Given the description of an element on the screen output the (x, y) to click on. 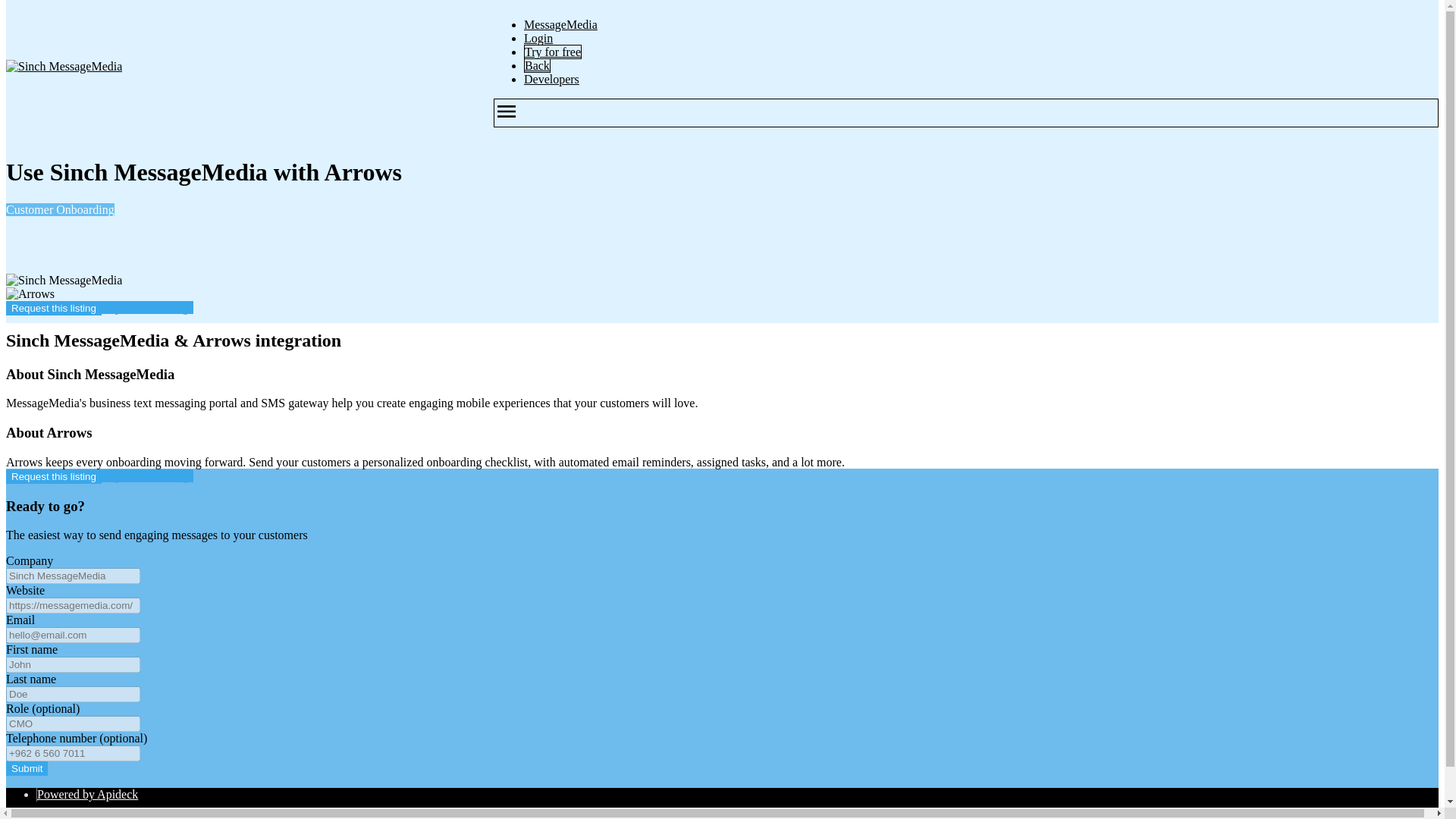
Catalog (56, 816)
Explore all listings (147, 307)
Sinch MessageMedia (63, 66)
Request this listing (53, 476)
Powered by Apideck (87, 793)
MessageMedia (560, 24)
Try for free (552, 51)
Login (538, 38)
Explore all listings (147, 475)
Submit (26, 768)
Back (537, 65)
Arrows (30, 294)
Developers (551, 78)
Request this listing (53, 308)
Sinch MessageMedia (63, 280)
